Given the description of an element on the screen output the (x, y) to click on. 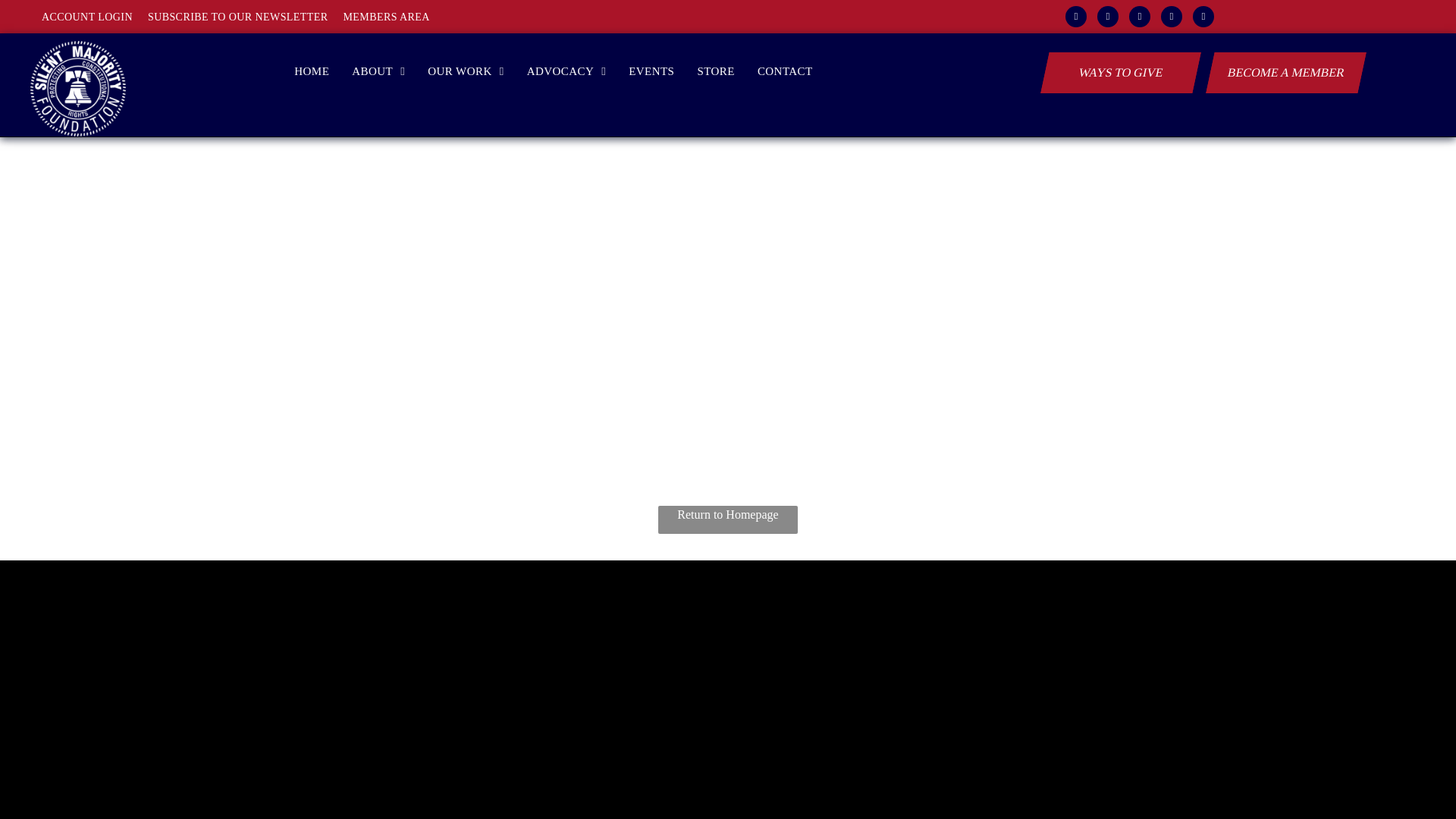
ACCOUNT LOGIN (95, 16)
SUBSCRIBE TO OUR NEWSLETTER (245, 16)
MEMBERS AREA (393, 16)
